Given the description of an element on the screen output the (x, y) to click on. 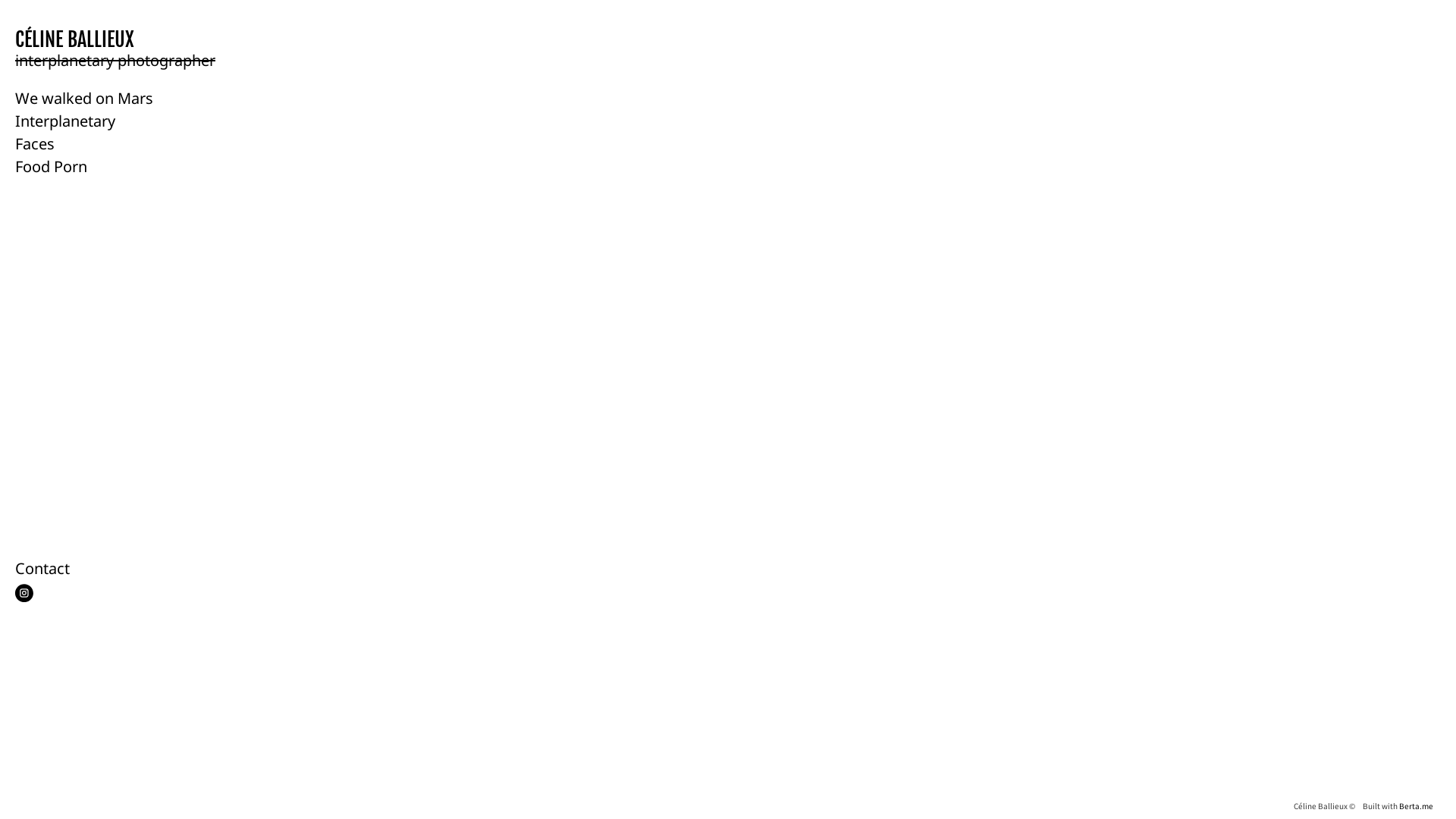
interplanetary photographer Element type: text (115, 60)
Interplanetary Element type: text (65, 120)
Berta.me Element type: text (1416, 805)
Faces Element type: text (34, 143)
We walked on Mars Element type: text (84, 97)
Contact Element type: text (42, 568)
Food Porn Element type: text (51, 166)
